Given the description of an element on the screen output the (x, y) to click on. 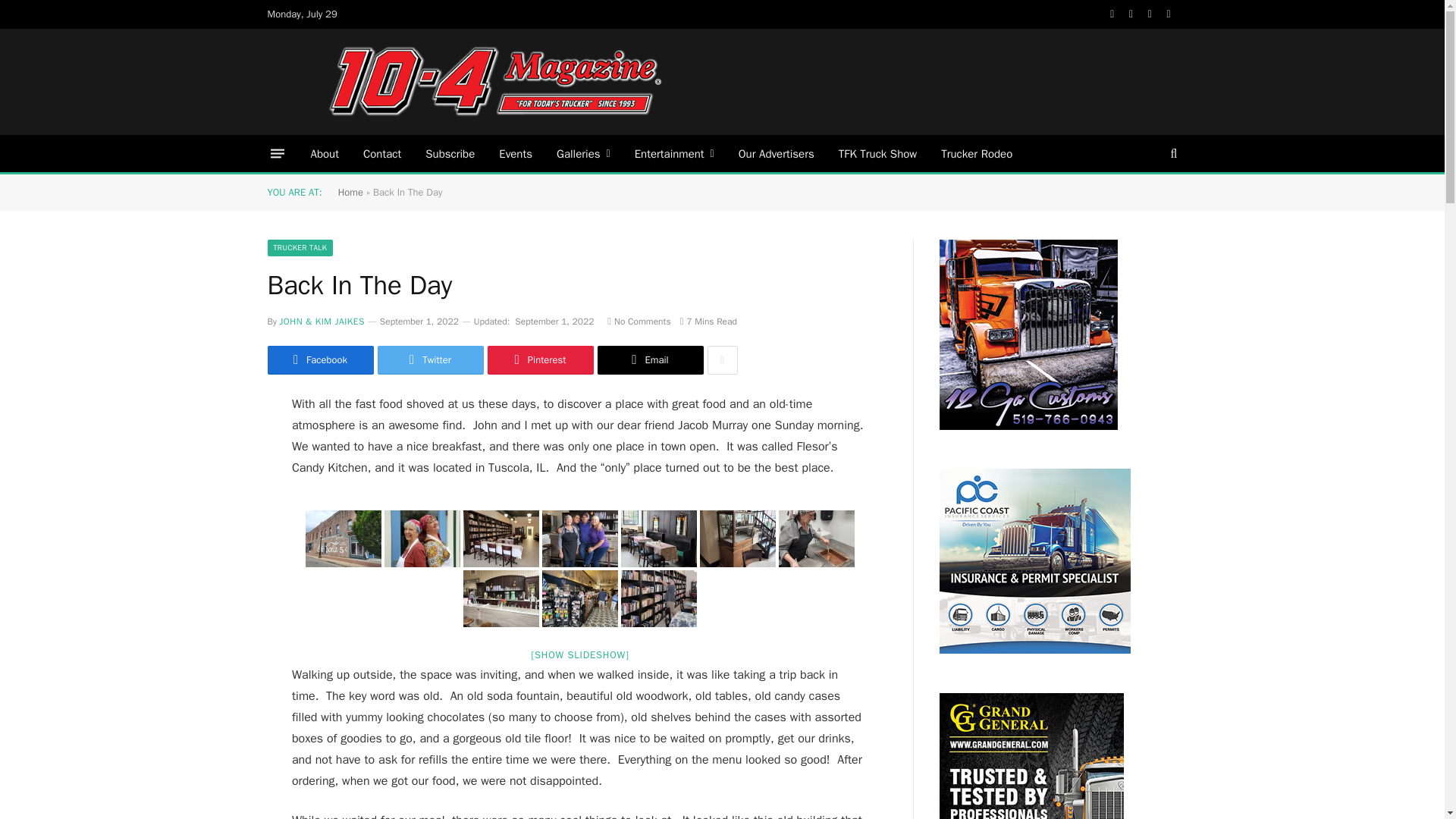
Trucker Rodeo (976, 153)
TRUCKER TALK (299, 247)
Events (515, 153)
Pinterest (539, 359)
No Comments (638, 321)
Our Advertisers (776, 153)
TFK Truck Show (877, 153)
Share on Facebook (319, 359)
Show More Social Sharing (721, 359)
About (324, 153)
Share via Email (649, 359)
Facebook (319, 359)
Contact (381, 153)
Galleries (583, 153)
Email (649, 359)
